Given the description of an element on the screen output the (x, y) to click on. 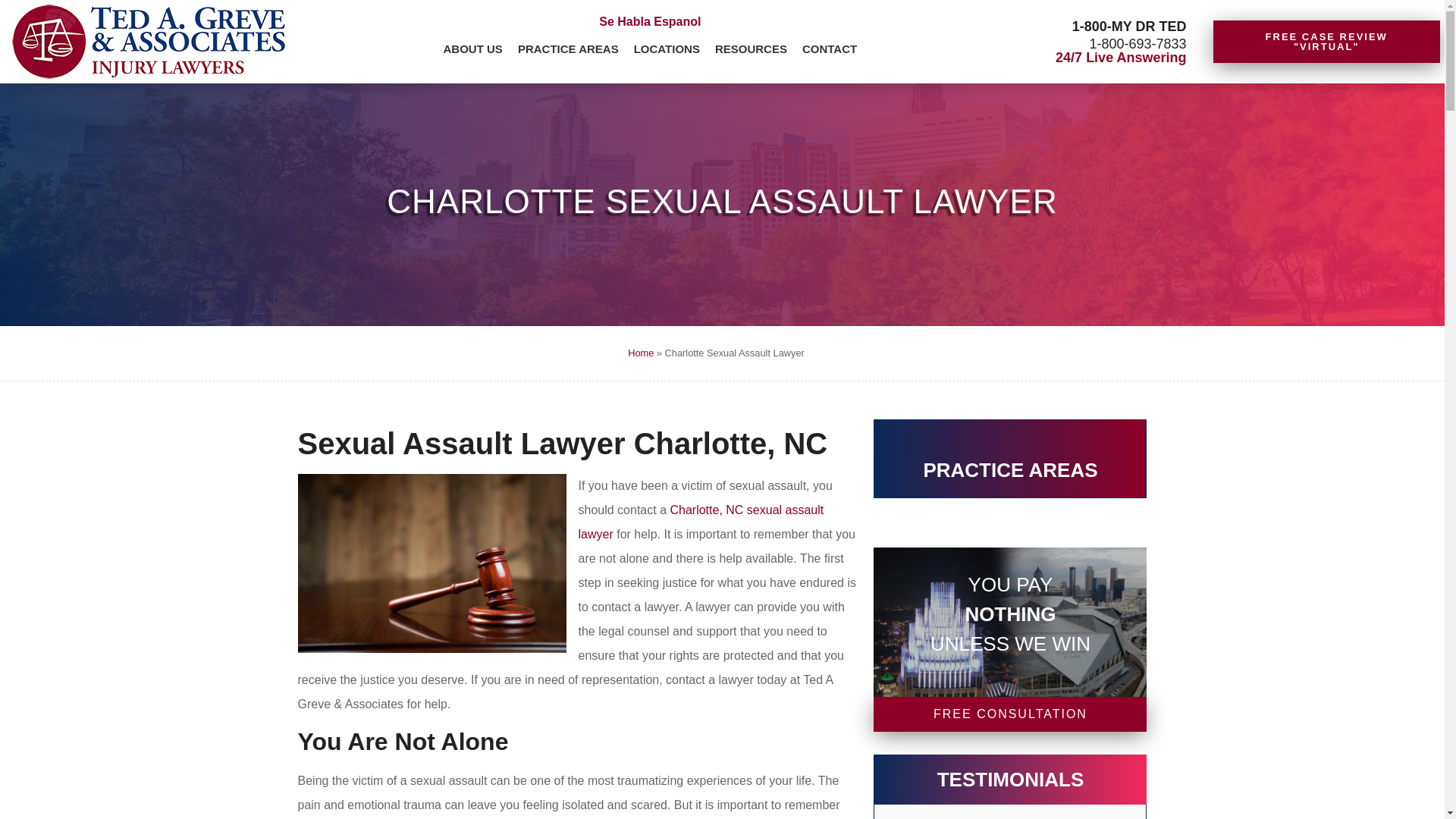
LOCATIONS (666, 49)
ABOUT US (473, 49)
PRACTICE AREAS (568, 49)
Se Habla Espanol (649, 21)
